Given the description of an element on the screen output the (x, y) to click on. 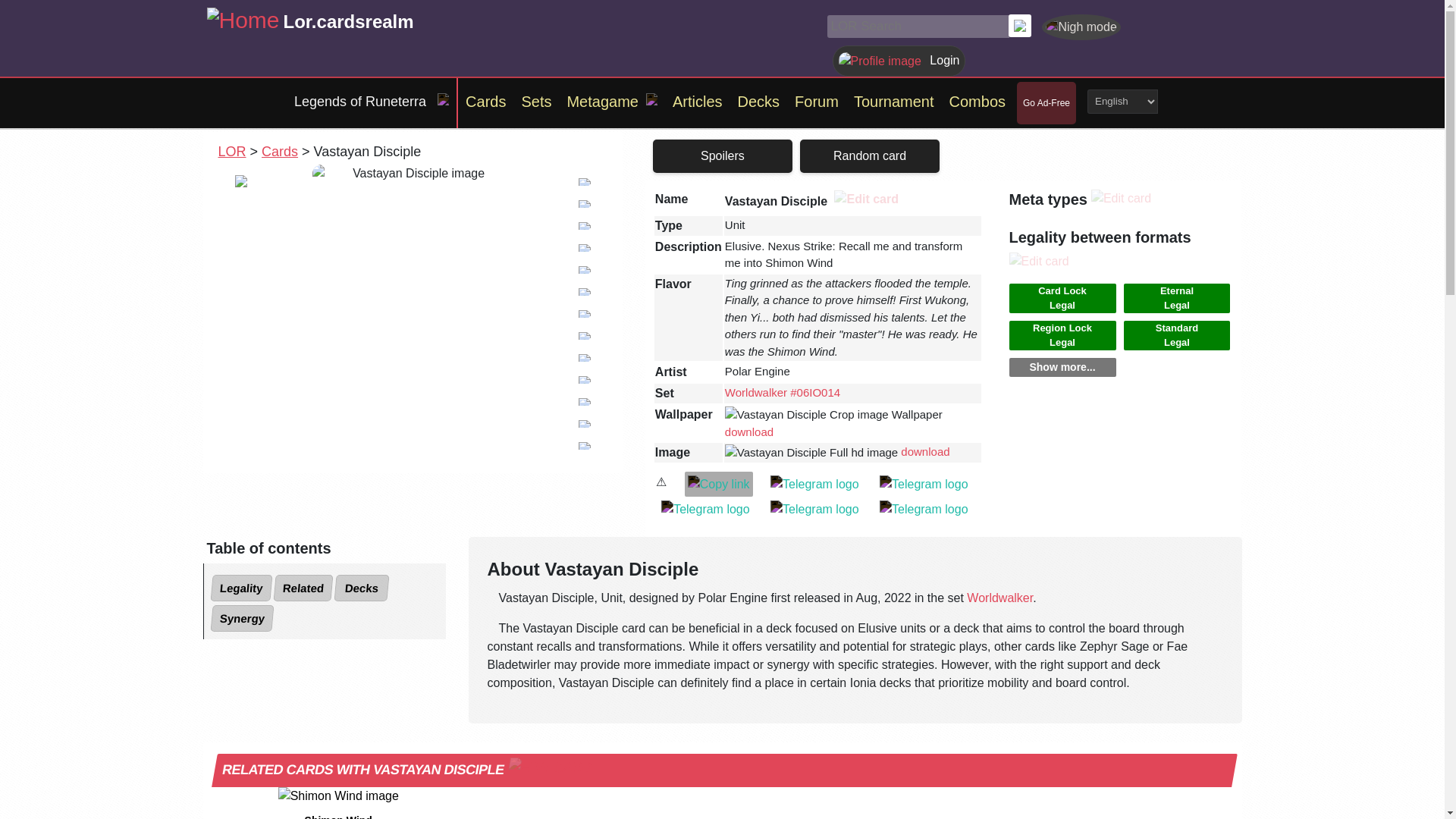
Forum (816, 101)
Profile page (898, 60)
Login (898, 60)
download (925, 451)
Cards (280, 151)
Articles (697, 101)
LOR (232, 151)
Lor.cardsrealm (348, 20)
Cards Realm (242, 20)
Sets (536, 101)
Legends of Runeterra (359, 102)
Sets (536, 101)
Combos (977, 101)
download (749, 431)
Tournament (893, 101)
